Given the description of an element on the screen output the (x, y) to click on. 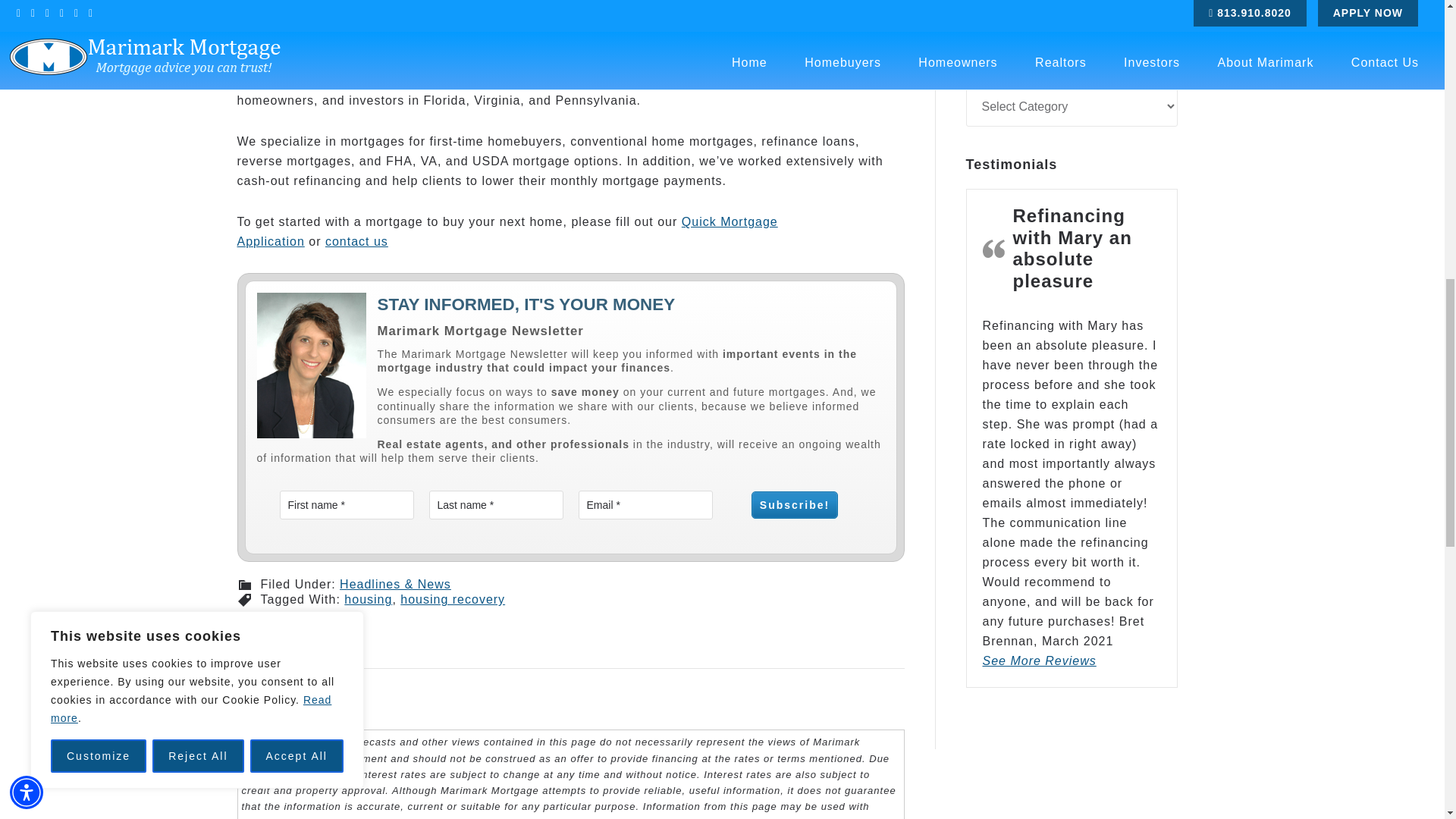
Last name (496, 504)
Subscribe! (794, 504)
Email (644, 504)
First name (346, 504)
